Given the description of an element on the screen output the (x, y) to click on. 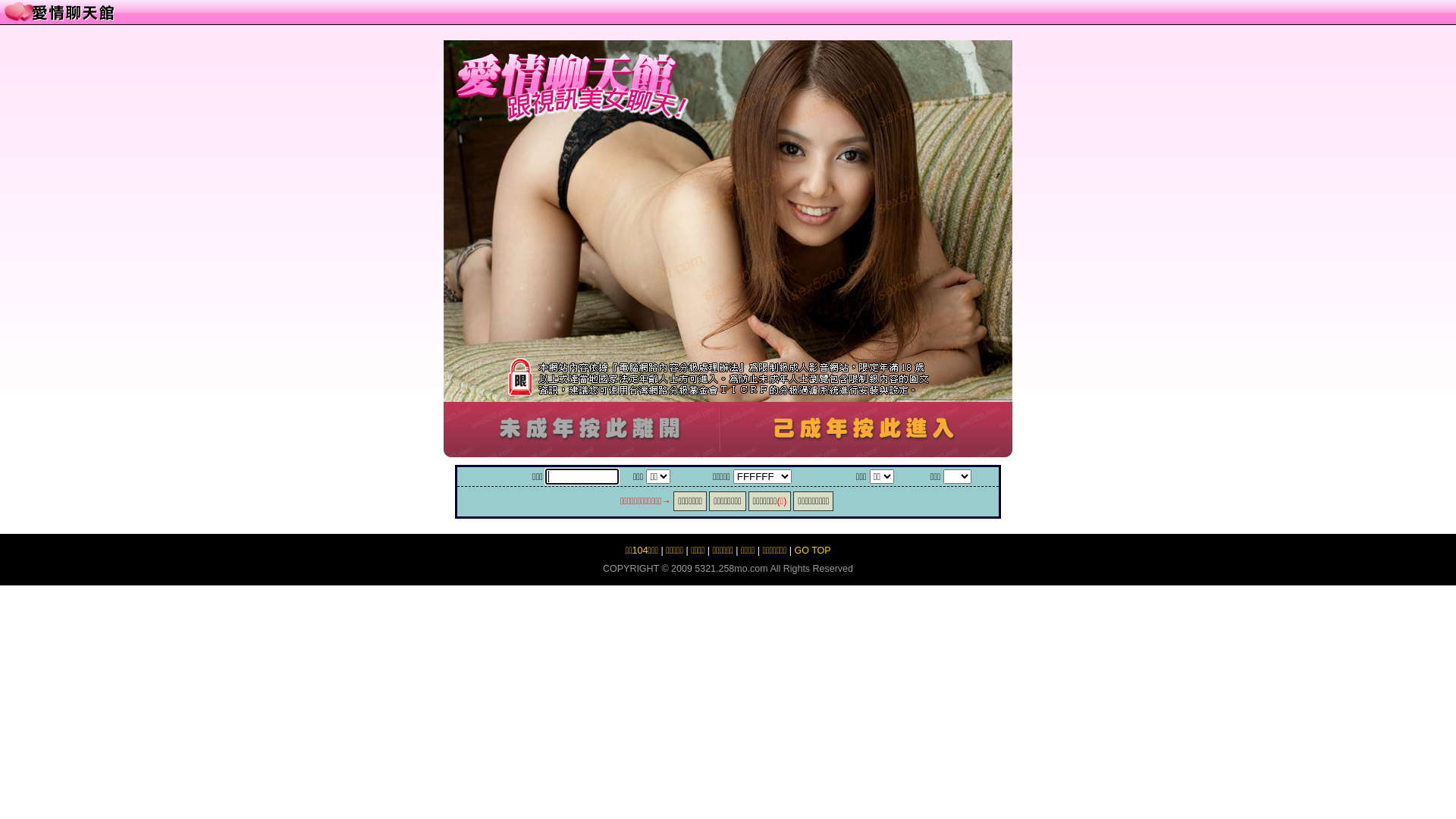
GO TOP Element type: text (812, 550)
5321.258mo.com Element type: text (730, 568)
